Given the description of an element on the screen output the (x, y) to click on. 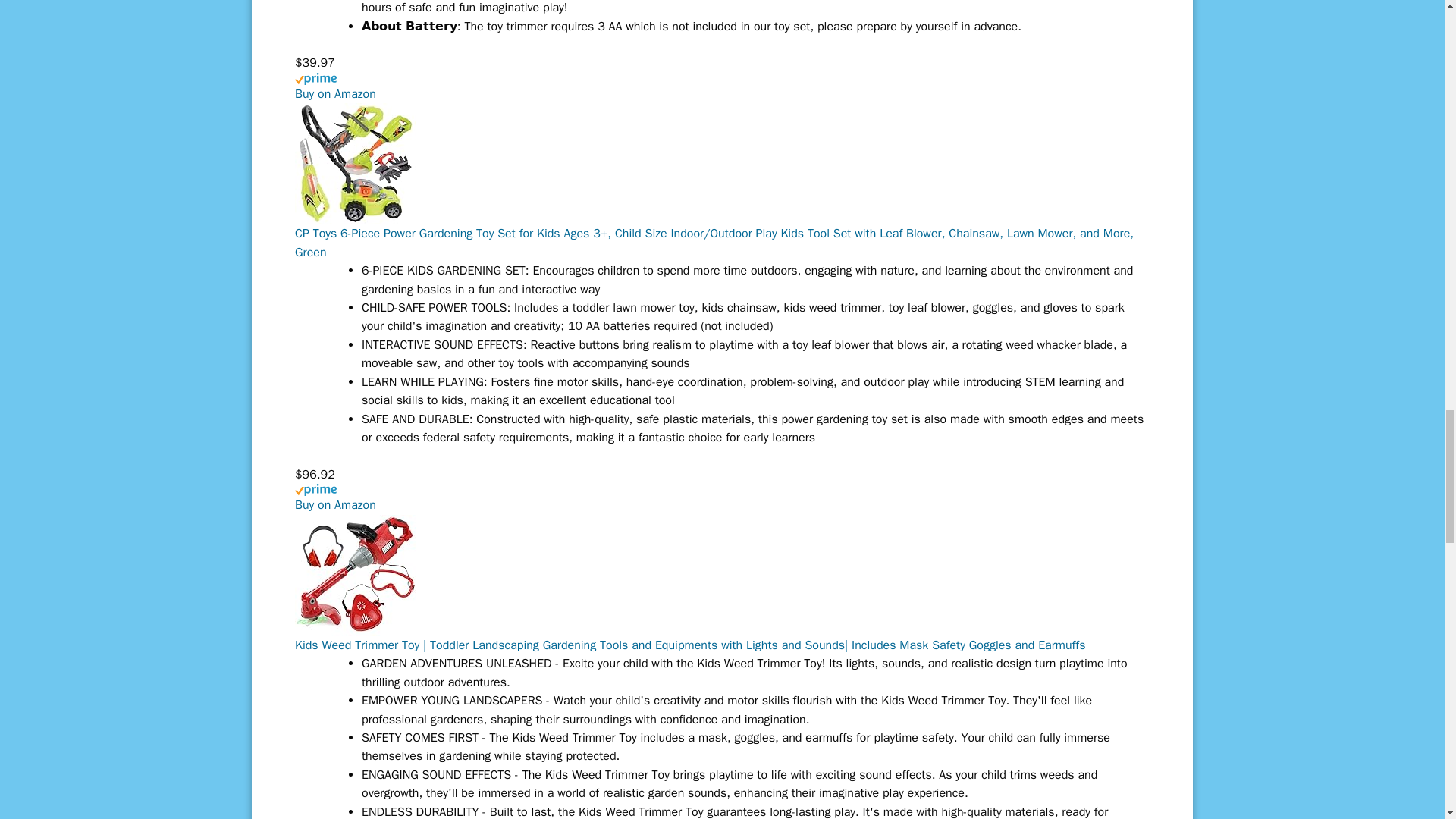
Buy on Amazon (335, 93)
Buy on Amazon (335, 504)
Buy on Amazon (335, 93)
Amazon Prime (722, 86)
